Given the description of an element on the screen output the (x, y) to click on. 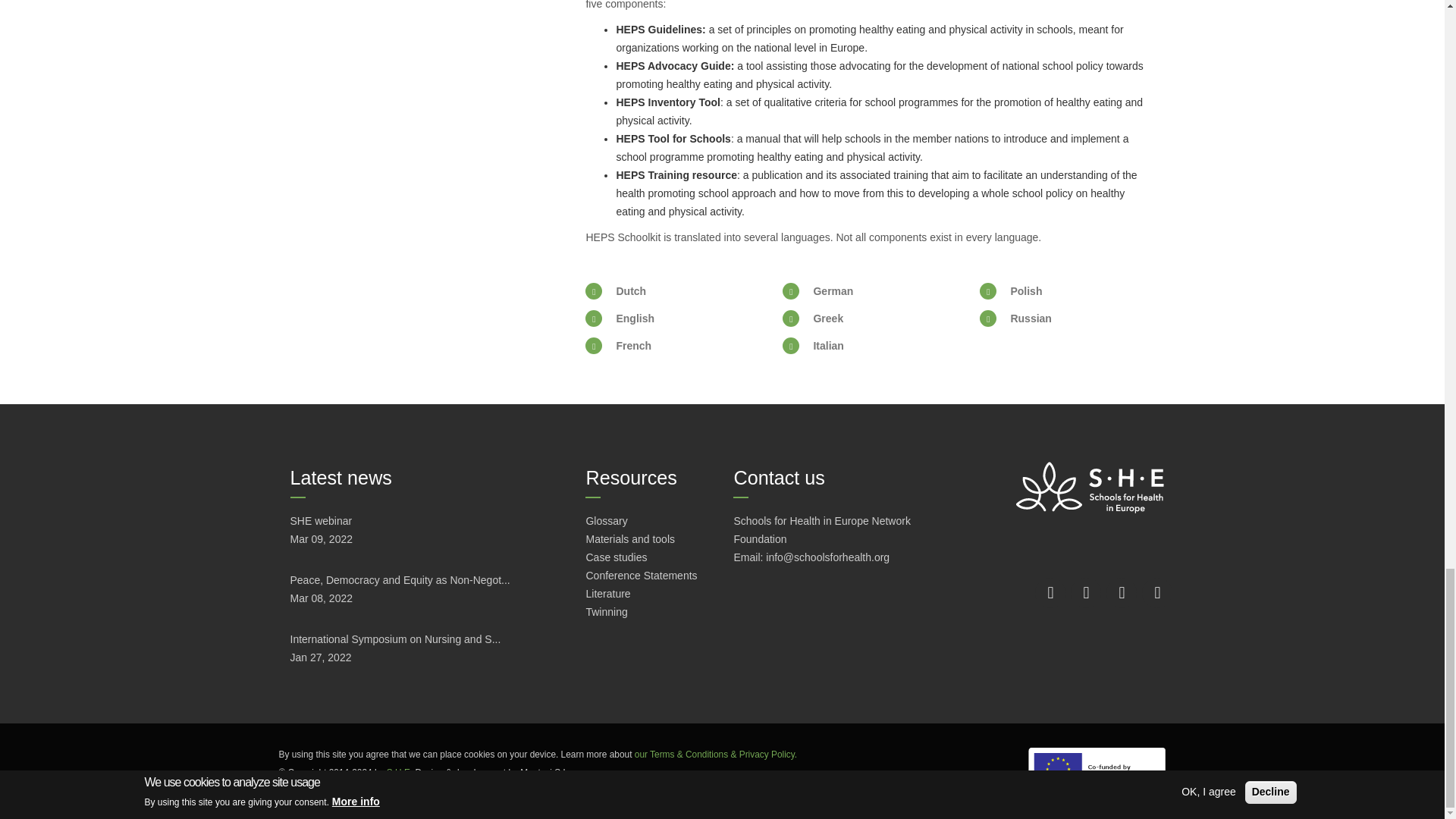
Follow on Twitter (1121, 593)
Follow on Facebook (1050, 593)
Follow on YouTube (1156, 593)
Follow on LinkedIn (1085, 593)
